Given the description of an element on the screen output the (x, y) to click on. 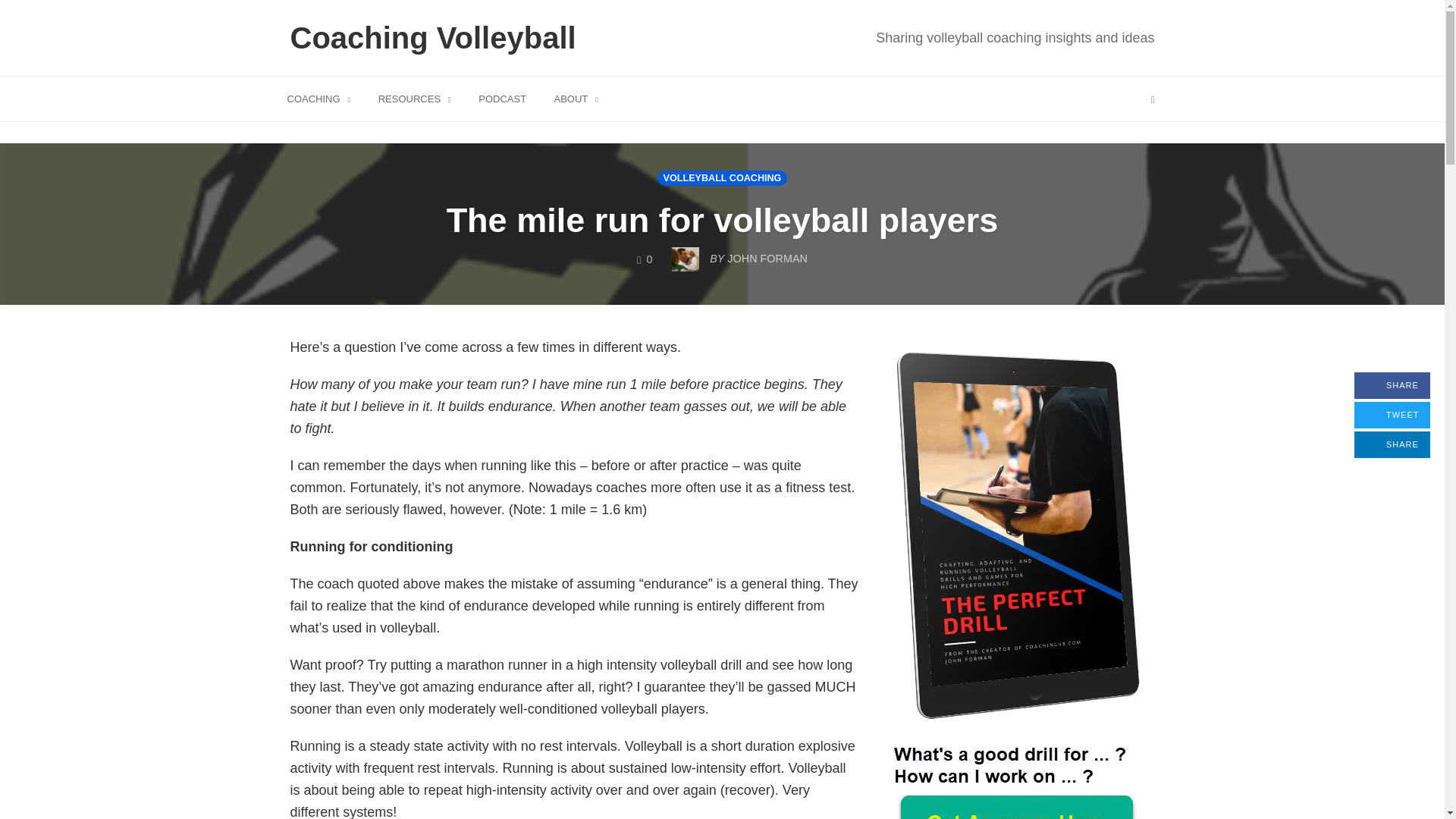
About Coaching Volleyball (575, 97)
ABOUT (575, 97)
Coaching Volleyball (433, 37)
Volleyball Coaching Book, Courses, Product Info, and Reviews (414, 97)
The mile run for volleyball players (722, 219)
COACHING (319, 97)
PODCAST (502, 97)
VOLLEYBALL COACHING (722, 177)
